Given the description of an element on the screen output the (x, y) to click on. 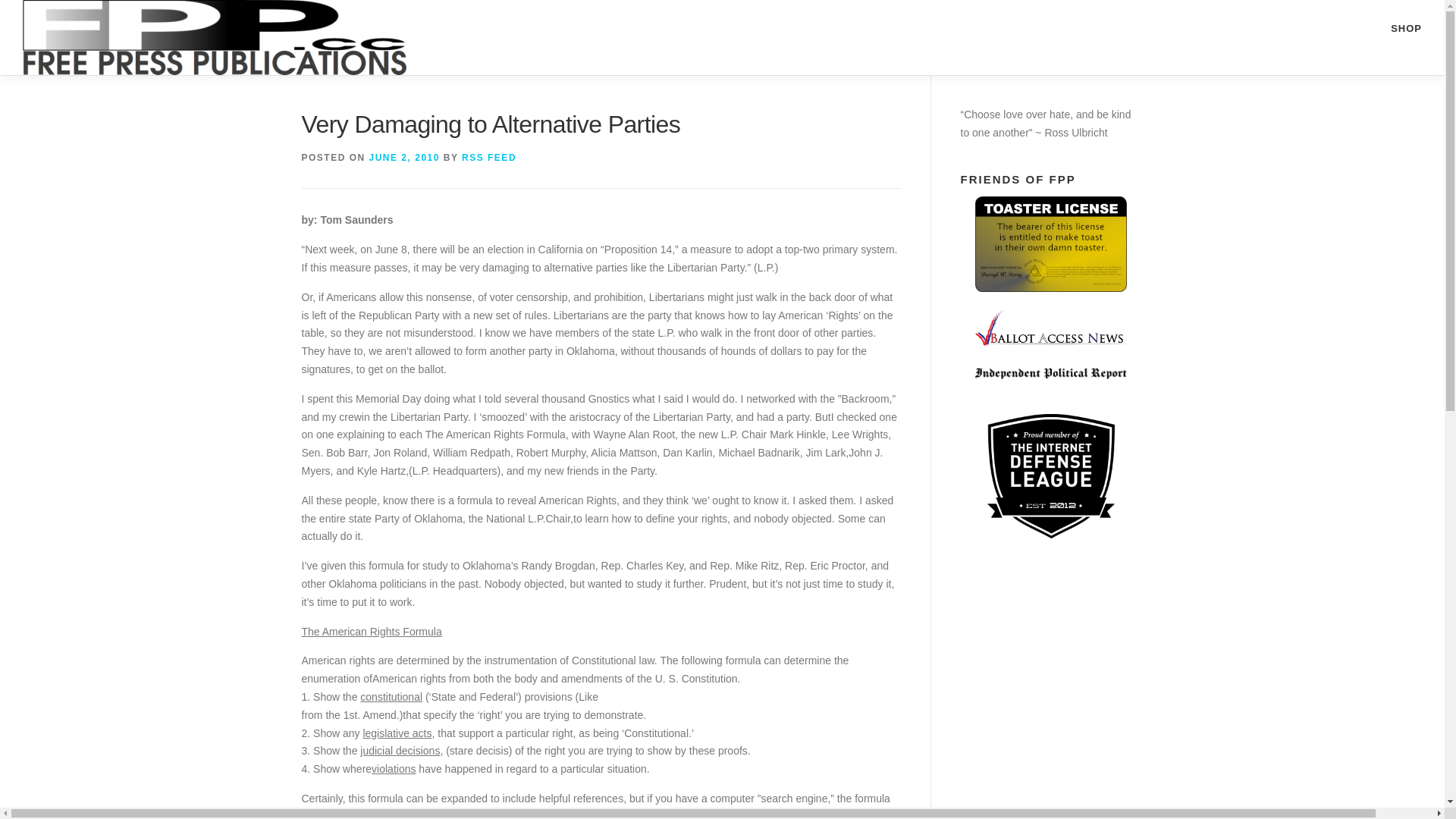
RSS FEED (488, 157)
JUNE 2, 2010 (404, 157)
SHOP (722, 37)
